Given the description of an element on the screen output the (x, y) to click on. 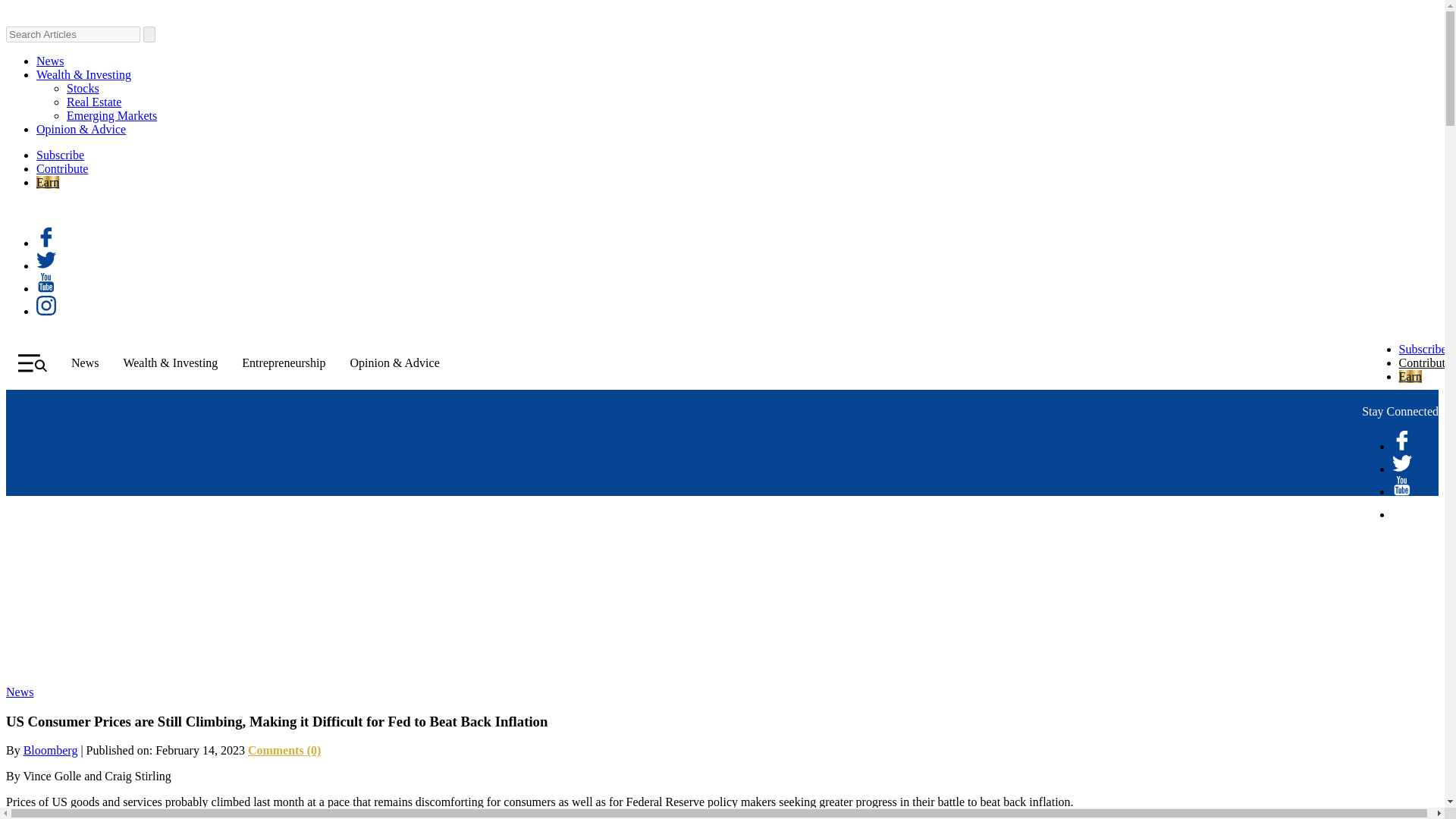
Instagram (46, 310)
Youtube (1401, 491)
Twitter (46, 265)
Youtube (46, 287)
Entrepreneurship (282, 362)
News (85, 362)
Contribute (61, 168)
Emerging Markets (111, 115)
News (19, 691)
Facebook (46, 242)
Facebook (1401, 445)
Real Estate (93, 101)
Earn (47, 182)
Twitter (1401, 468)
